Given the description of an element on the screen output the (x, y) to click on. 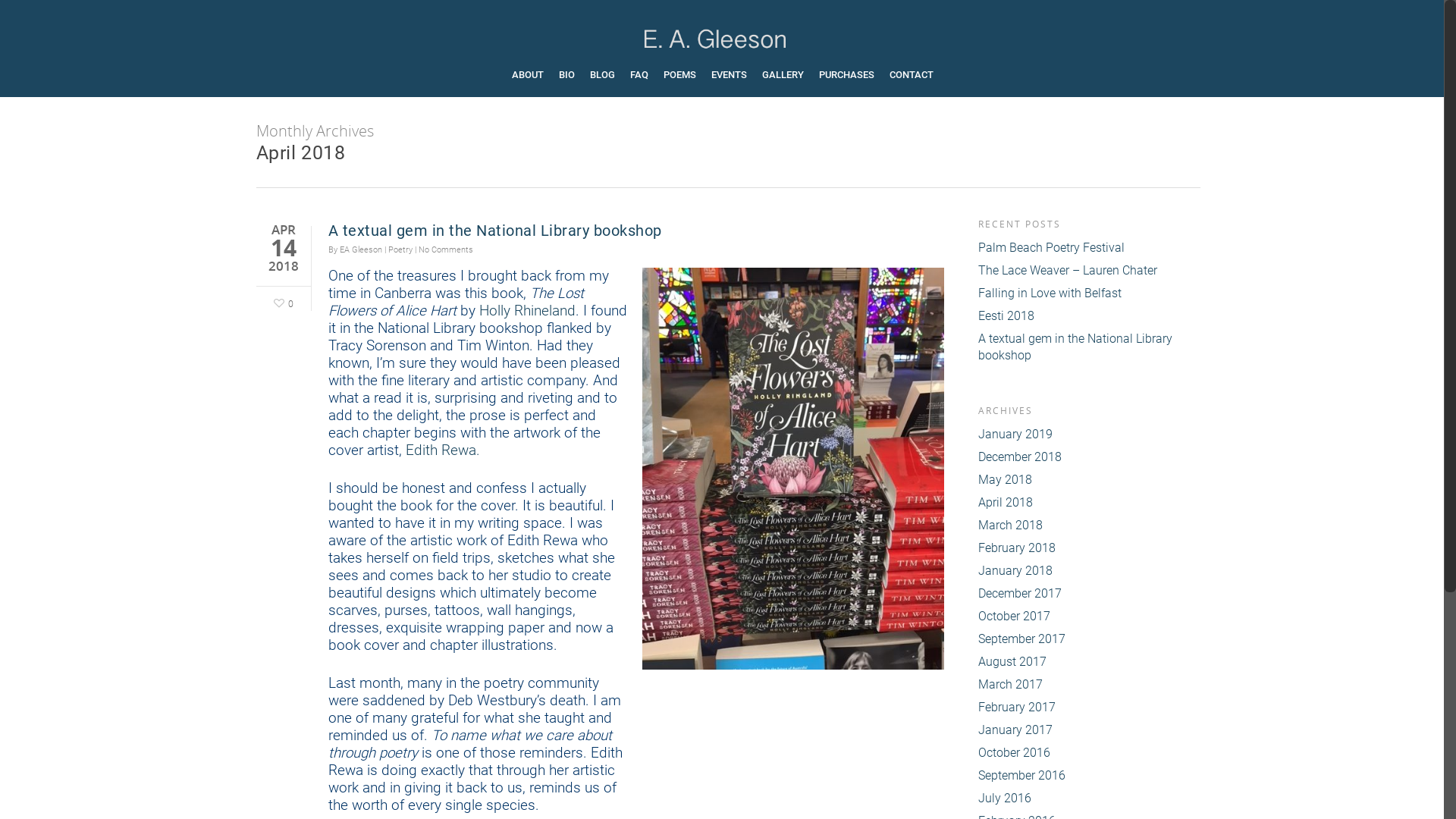
EVENTS Element type: text (728, 82)
May 2018 Element type: text (1089, 479)
Palm Beach Poetry Festival Element type: text (1089, 247)
September 2017 Element type: text (1089, 638)
No Comments Element type: text (445, 249)
0 Element type: text (280, 301)
BLOG Element type: text (602, 82)
Eesti 2018 Element type: text (1089, 315)
October 2016 Element type: text (1089, 752)
December 2018 Element type: text (1089, 456)
FAQ Element type: text (638, 82)
POEMS Element type: text (678, 82)
A textual gem in the National Library bookshop Element type: text (1089, 347)
April 2018 Element type: text (1089, 502)
December 2017 Element type: text (1089, 593)
Edith Rewa. Element type: text (441, 450)
March 2018 Element type: text (1089, 525)
January 2017 Element type: text (1089, 729)
January 2018 Element type: text (1089, 570)
ABOUT Element type: text (526, 82)
Holly Rhineland Element type: text (527, 310)
March 2017 Element type: text (1089, 684)
February 2017 Element type: text (1089, 707)
July 2016 Element type: text (1089, 798)
EA Gleeson Element type: text (360, 249)
CONTACT Element type: text (910, 82)
PURCHASES Element type: text (846, 82)
January 2019 Element type: text (1089, 434)
Poetry Element type: text (400, 249)
A textual gem in the National Library bookshop Element type: text (494, 230)
February 2018 Element type: text (1089, 547)
Falling in Love with Belfast Element type: text (1089, 293)
August 2017 Element type: text (1089, 661)
October 2017 Element type: text (1089, 616)
September 2016 Element type: text (1089, 775)
GALLERY Element type: text (782, 82)
BIO Element type: text (566, 82)
